Given the description of an element on the screen output the (x, y) to click on. 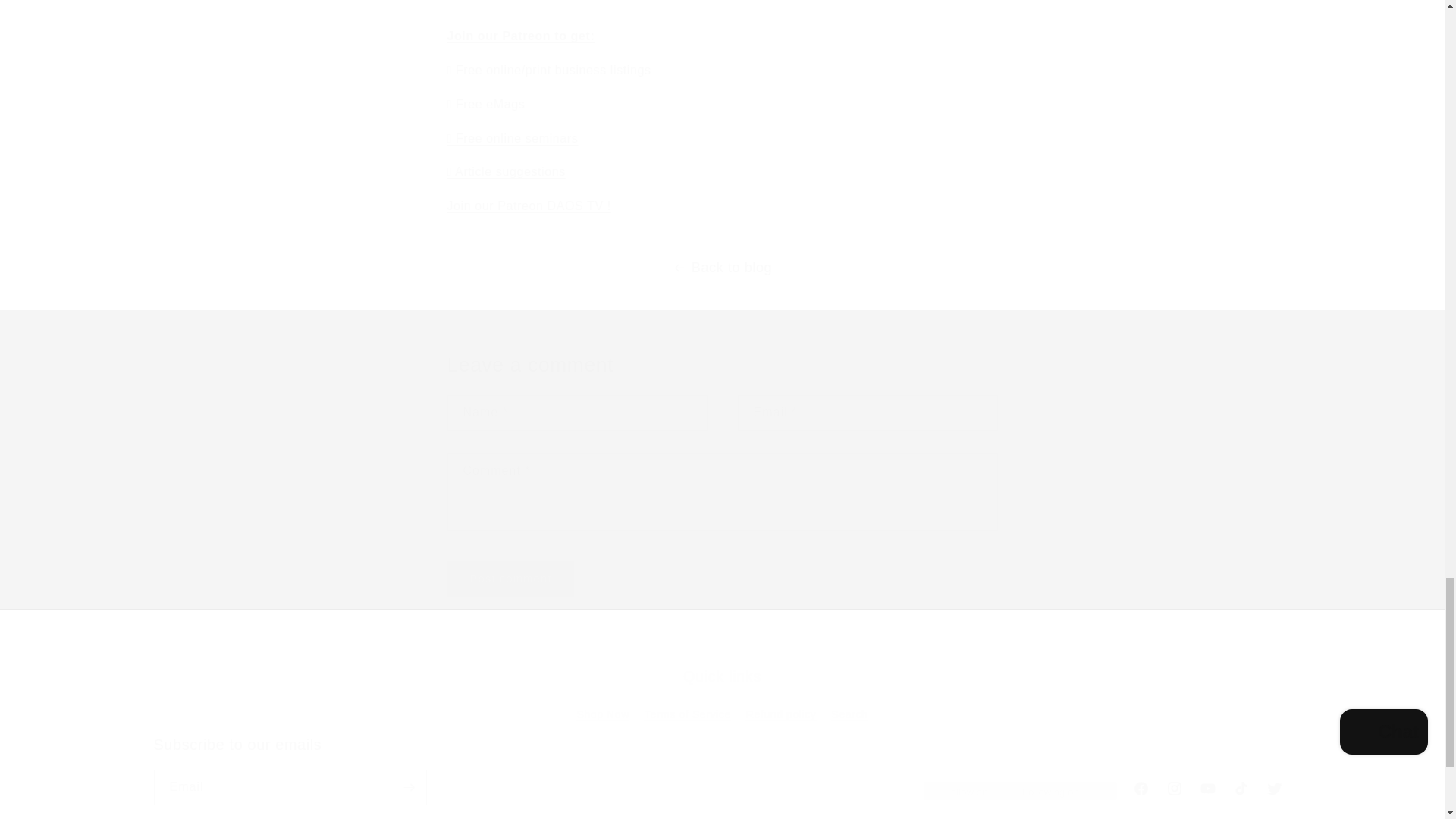
Post comment (510, 579)
